Given the description of an element on the screen output the (x, y) to click on. 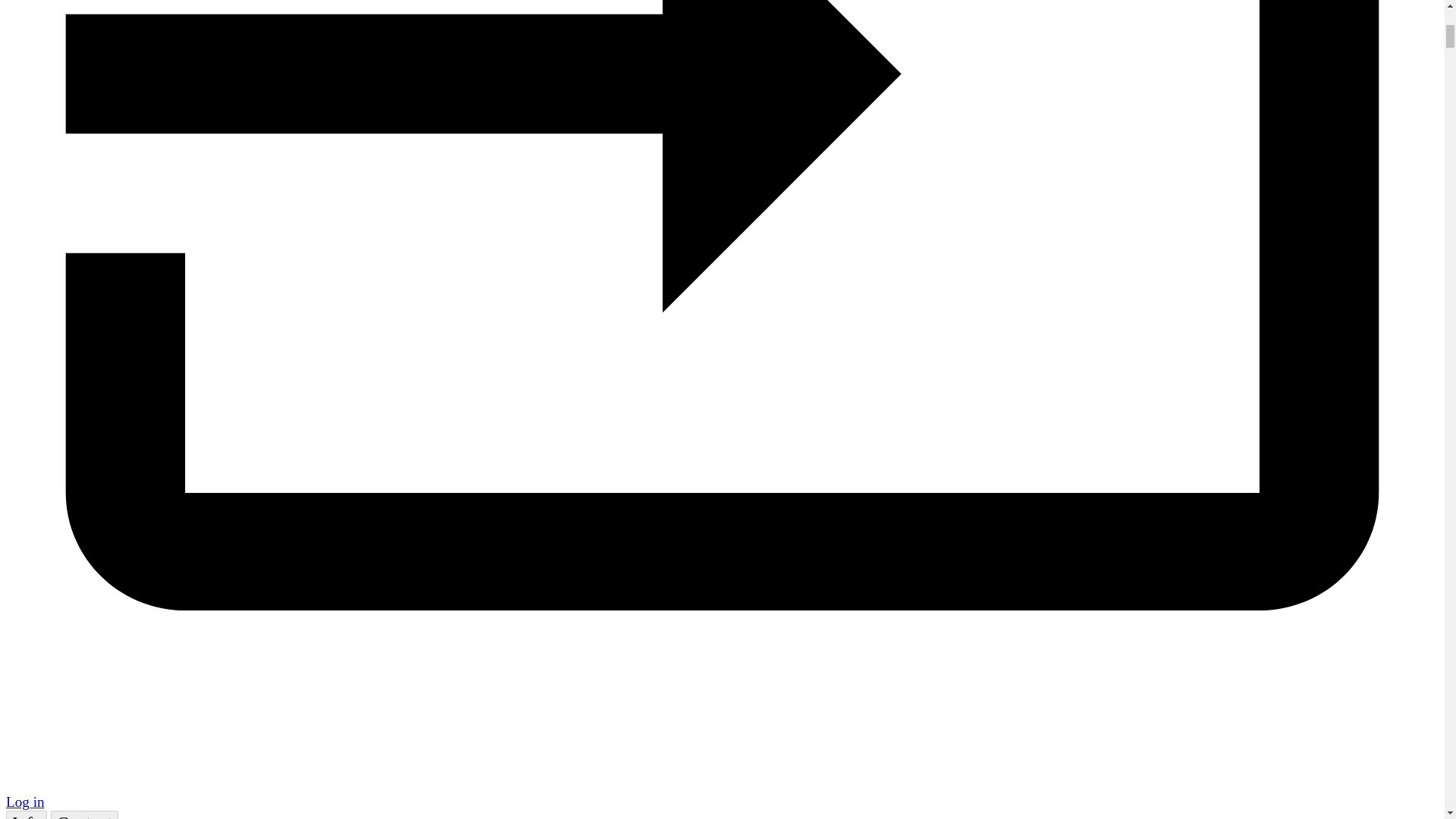
Content (83, 814)
Info (25, 814)
